Given the description of an element on the screen output the (x, y) to click on. 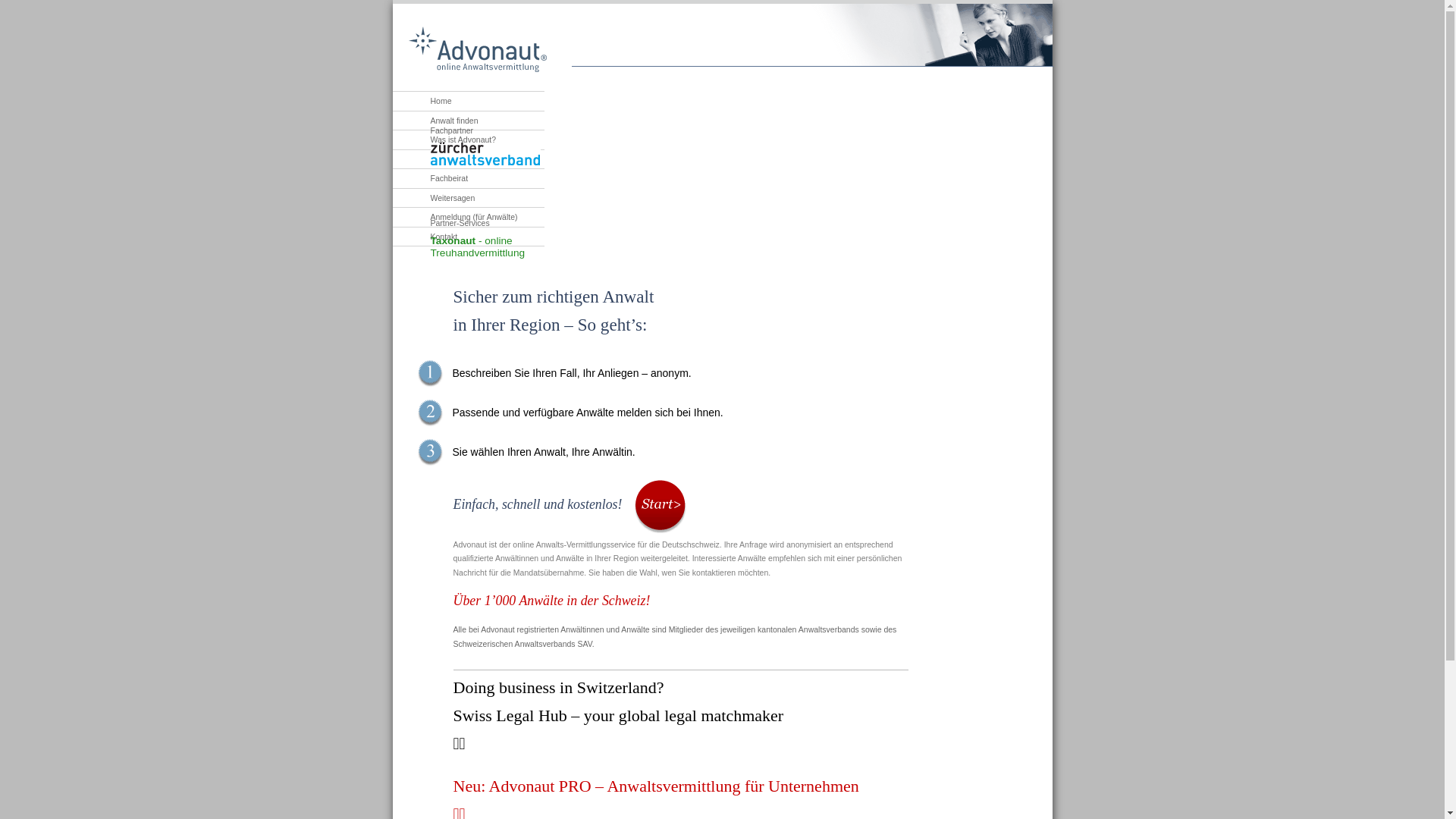
Home Element type: text (421, 101)
Taxonaut - online Treuhandvermittlung Element type: text (477, 246)
Partner-Services Element type: text (487, 222)
Weitersagen Element type: text (433, 197)
Was ist Advonaut? Element type: text (444, 139)
Anwalt finden Element type: text (435, 120)
Fachbeirat Element type: text (430, 178)
Advonaut. Sicher zum richtigen Anwalt. Element type: hover (476, 49)
Kontakt Element type: text (425, 236)
